Given the description of an element on the screen output the (x, y) to click on. 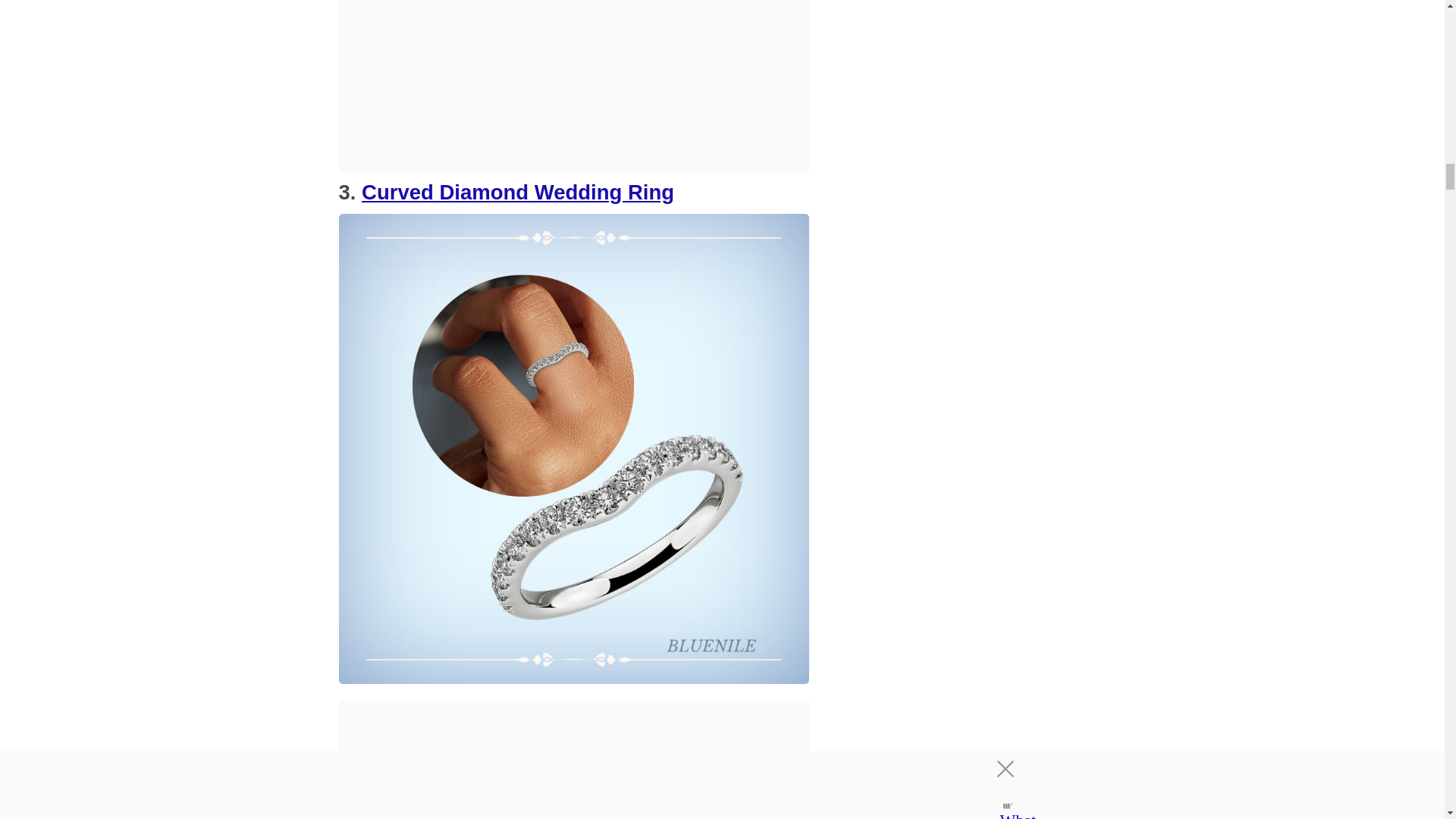
Curved Diamond Wedding Ring (517, 191)
